Given the description of an element on the screen output the (x, y) to click on. 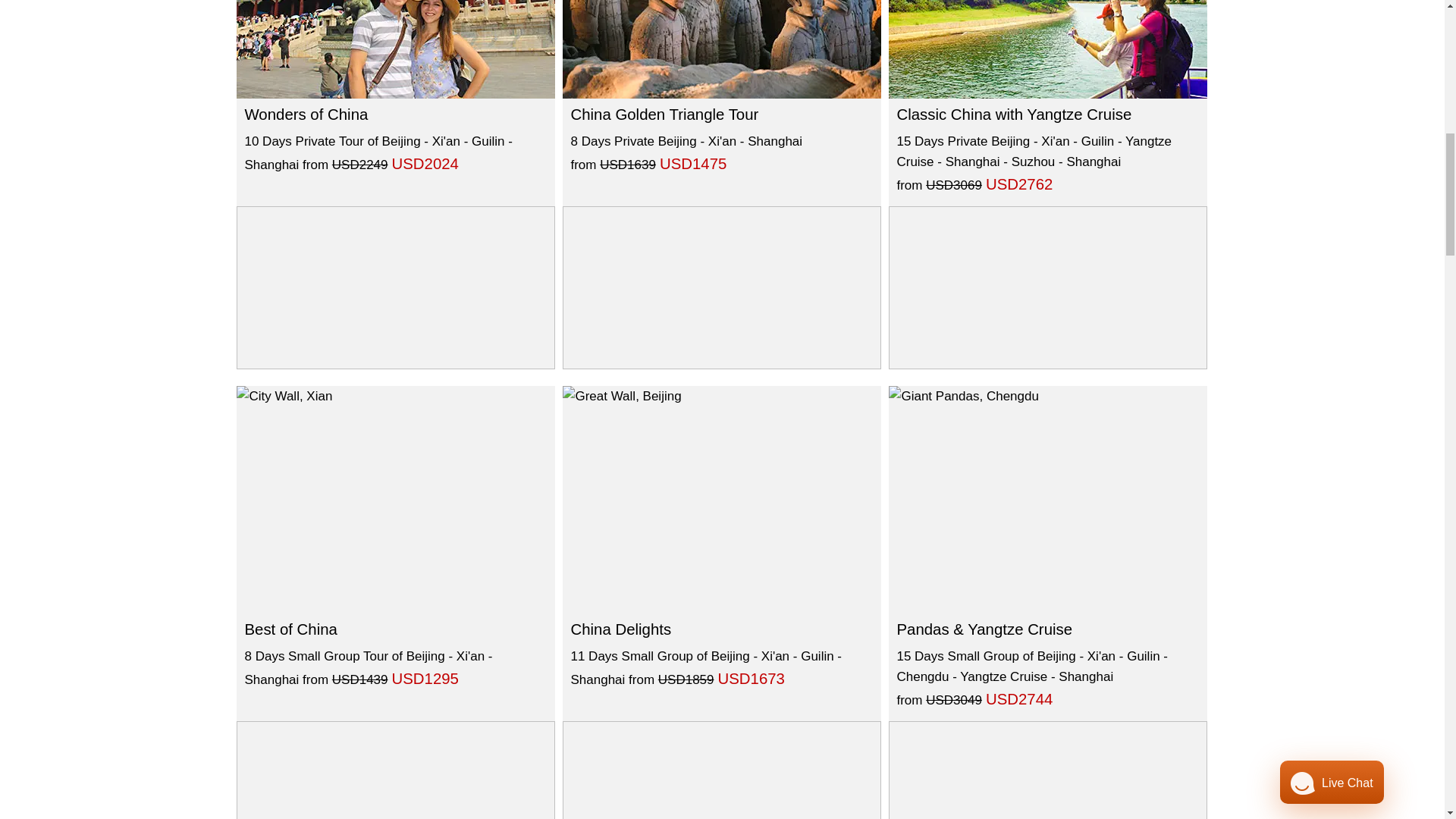
Terracotta Army, Xian (721, 49)
Giant Pandas, Chengdu (1047, 499)
City Wall, Xian (394, 499)
Li River Cruise, Guilin (1047, 49)
Great Wall, Beijing (721, 499)
Forbidden City, Beijing (394, 49)
